Given the description of an element on the screen output the (x, y) to click on. 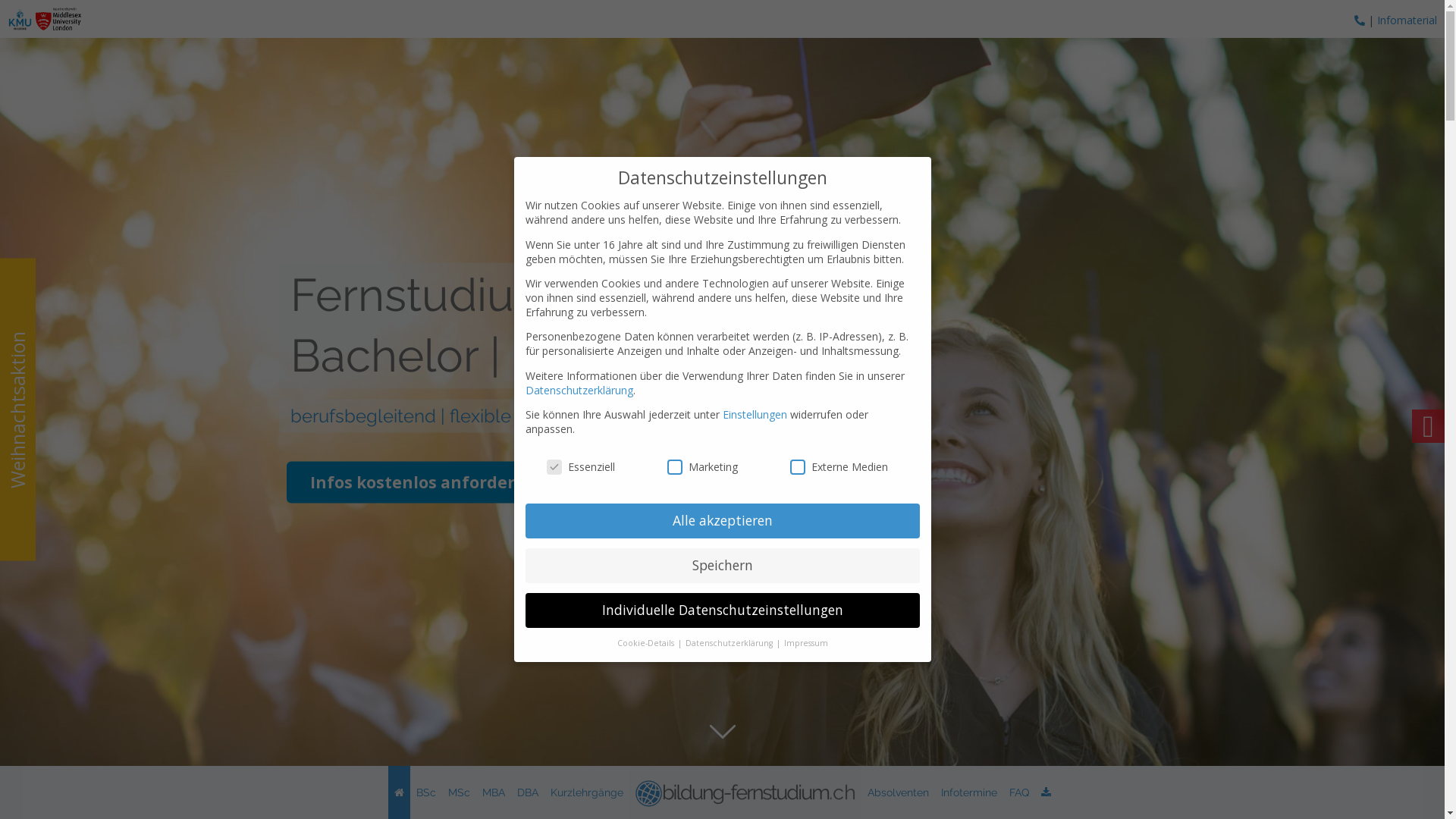
Individuelle Datenschutzeinstellungen Element type: text (721, 610)
Impressum Element type: text (806, 642)
Einstellungen Element type: text (753, 414)
Cookie-Details Element type: text (646, 642)
Alle akzeptieren Element type: text (721, 520)
Infomaterial Element type: text (1407, 19)
Infos kostenlos anfordern Element type: text (417, 481)
Speichern Element type: text (721, 565)
